Given the description of an element on the screen output the (x, y) to click on. 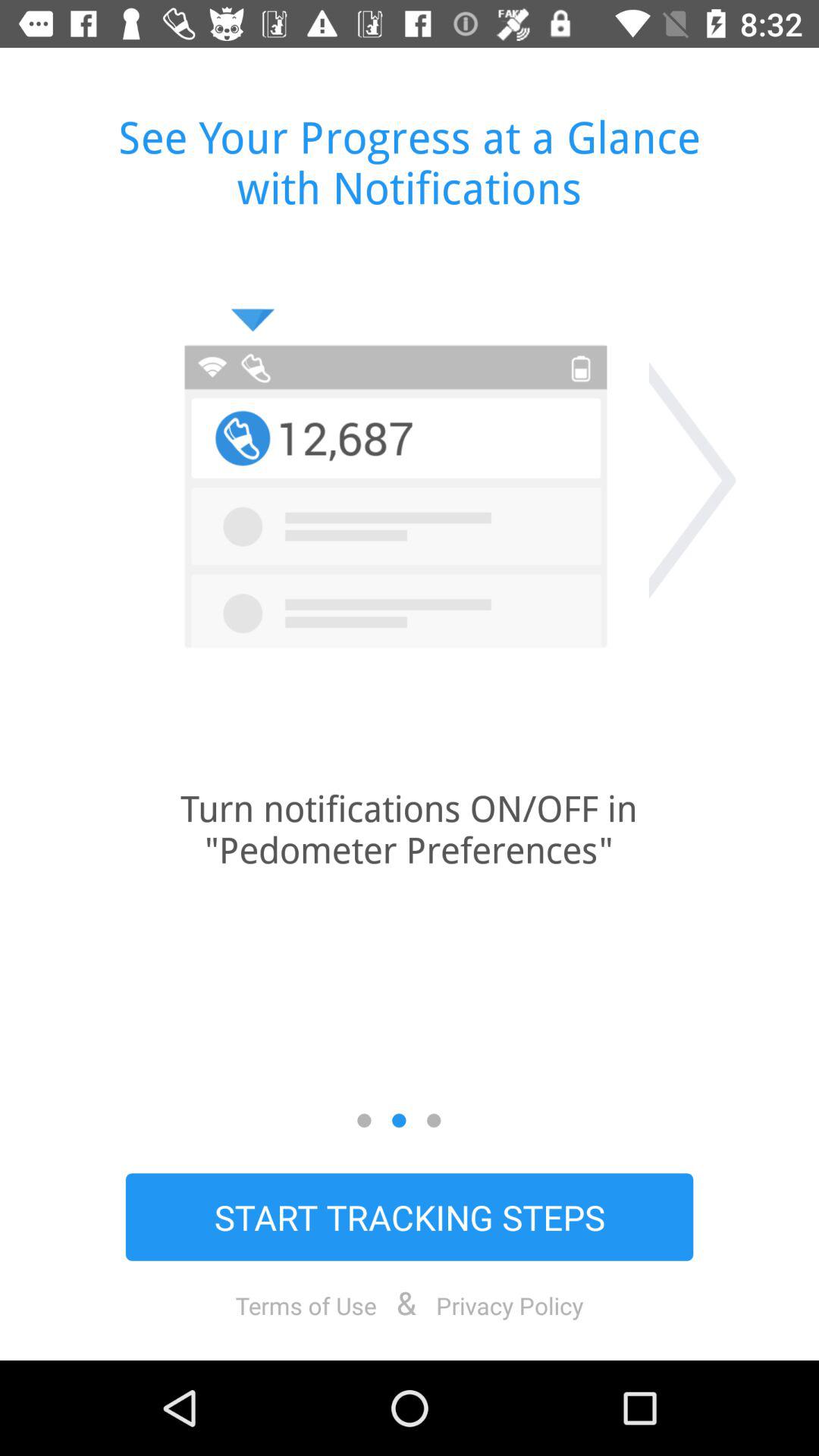
scroll until the terms of use item (305, 1305)
